Given the description of an element on the screen output the (x, y) to click on. 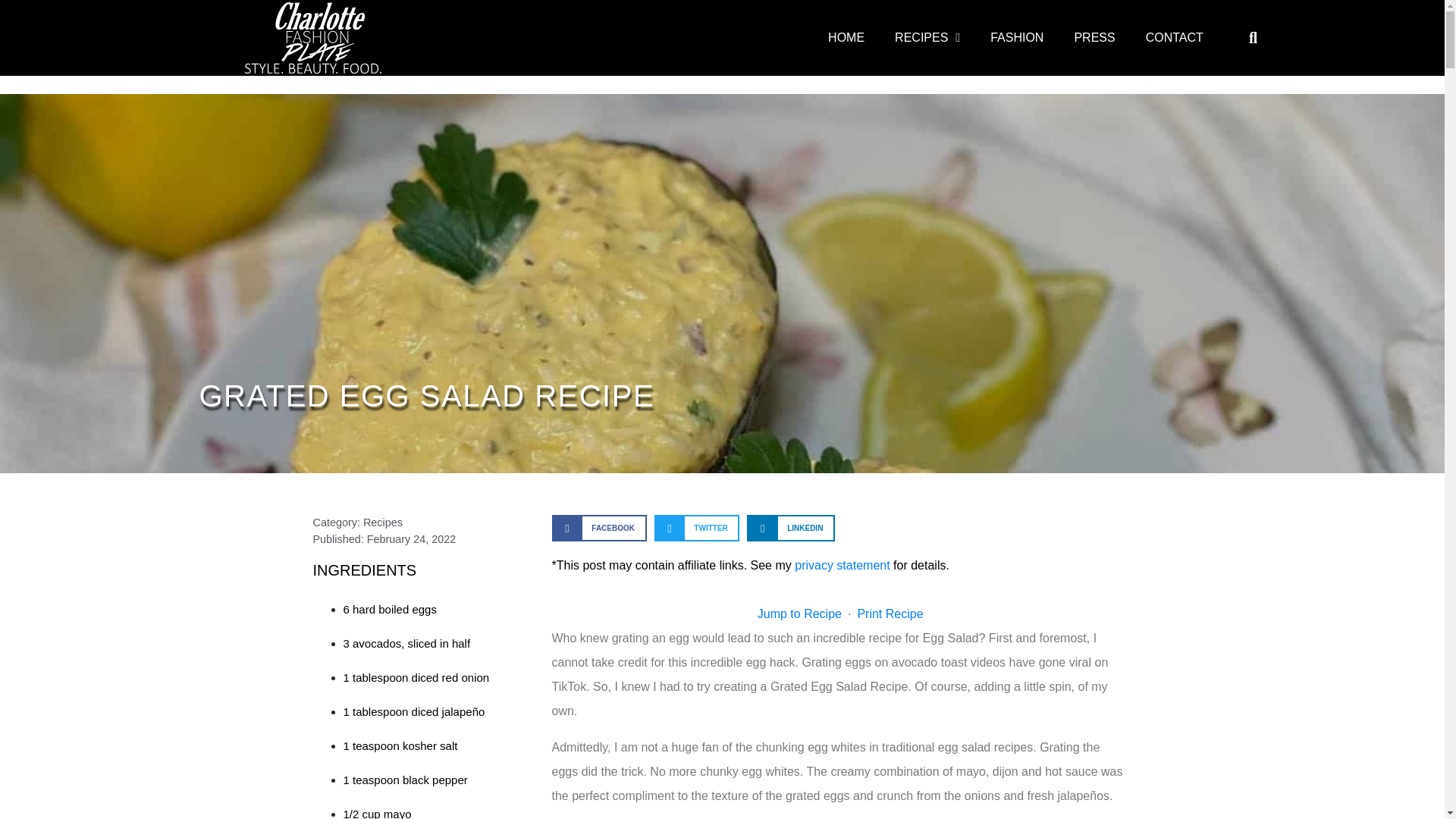
RECIPES (927, 38)
FASHION (1016, 38)
Recipes (382, 522)
CONTACT (1174, 38)
Jump to Recipe (799, 613)
privacy statement (841, 564)
Published: February 24, 2022 (384, 539)
PRESS (1093, 38)
